Given the description of an element on the screen output the (x, y) to click on. 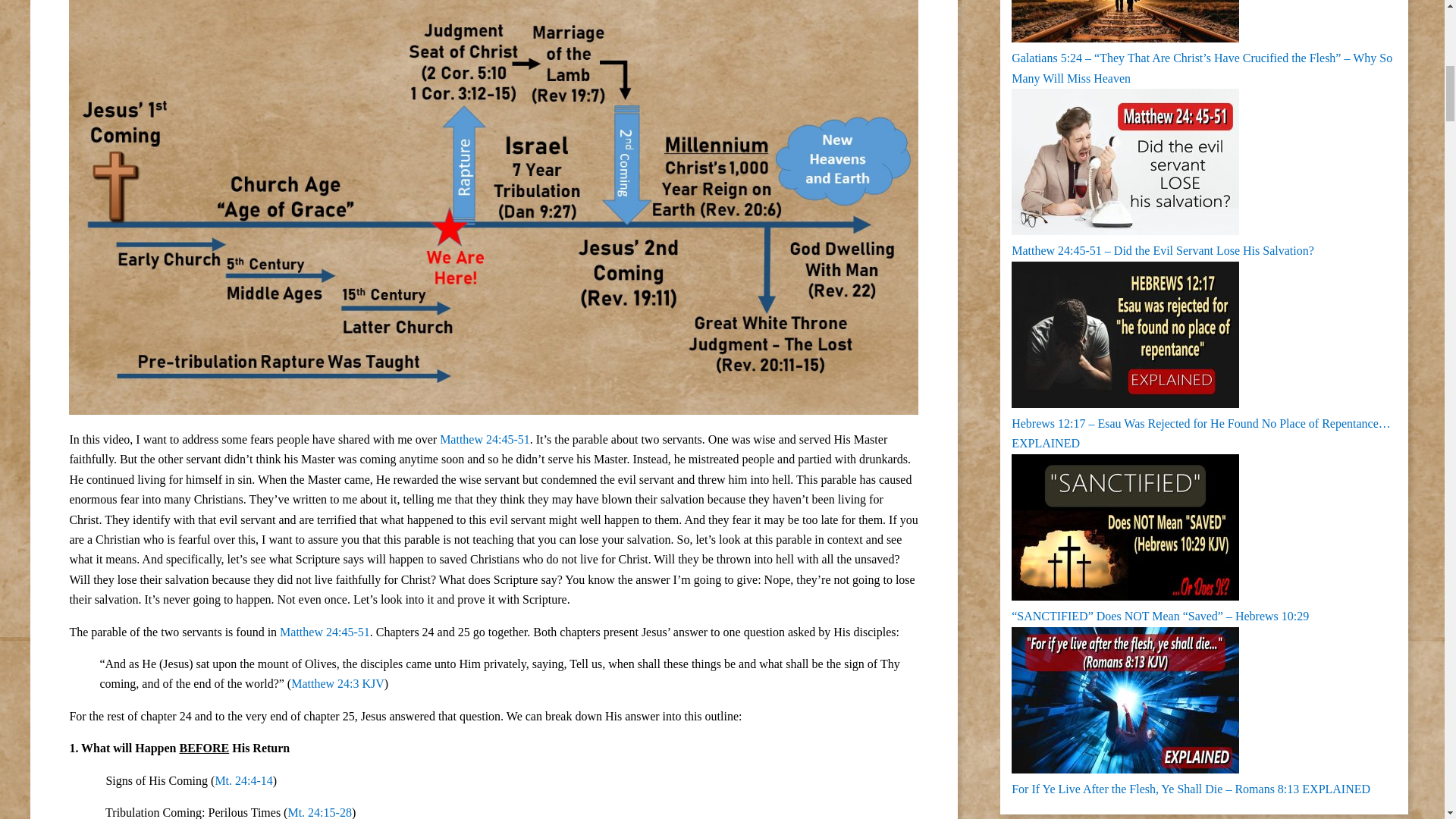
Mt. 24:4-14 (243, 780)
Mt. 24:15-28 (318, 812)
Matthew 24:3 KJV (337, 683)
Matthew 24:45-51 (484, 439)
Matthew 24:45-51 (324, 631)
